Given the description of an element on the screen output the (x, y) to click on. 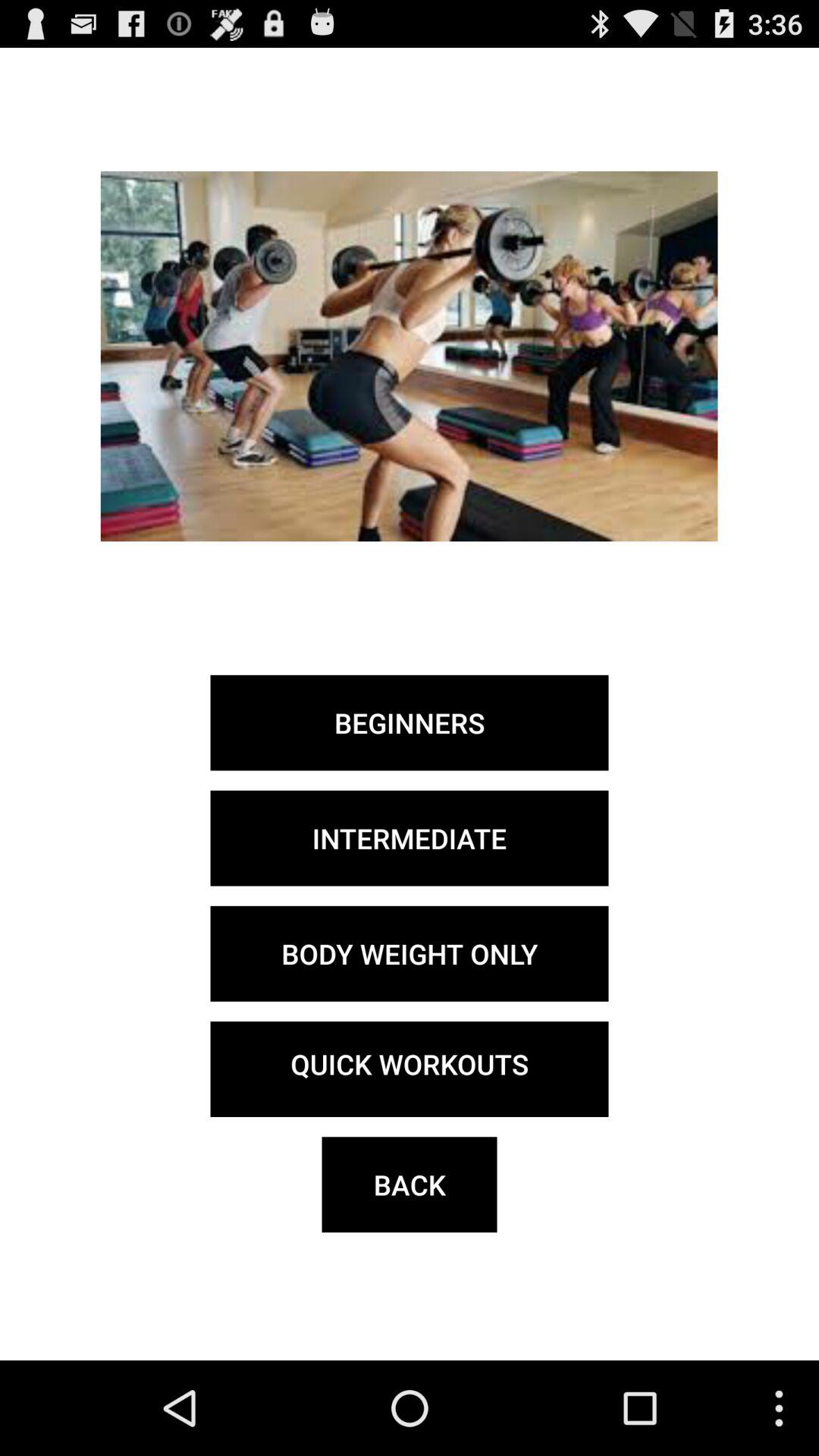
jump to quick workouts button (409, 1069)
